Given the description of an element on the screen output the (x, y) to click on. 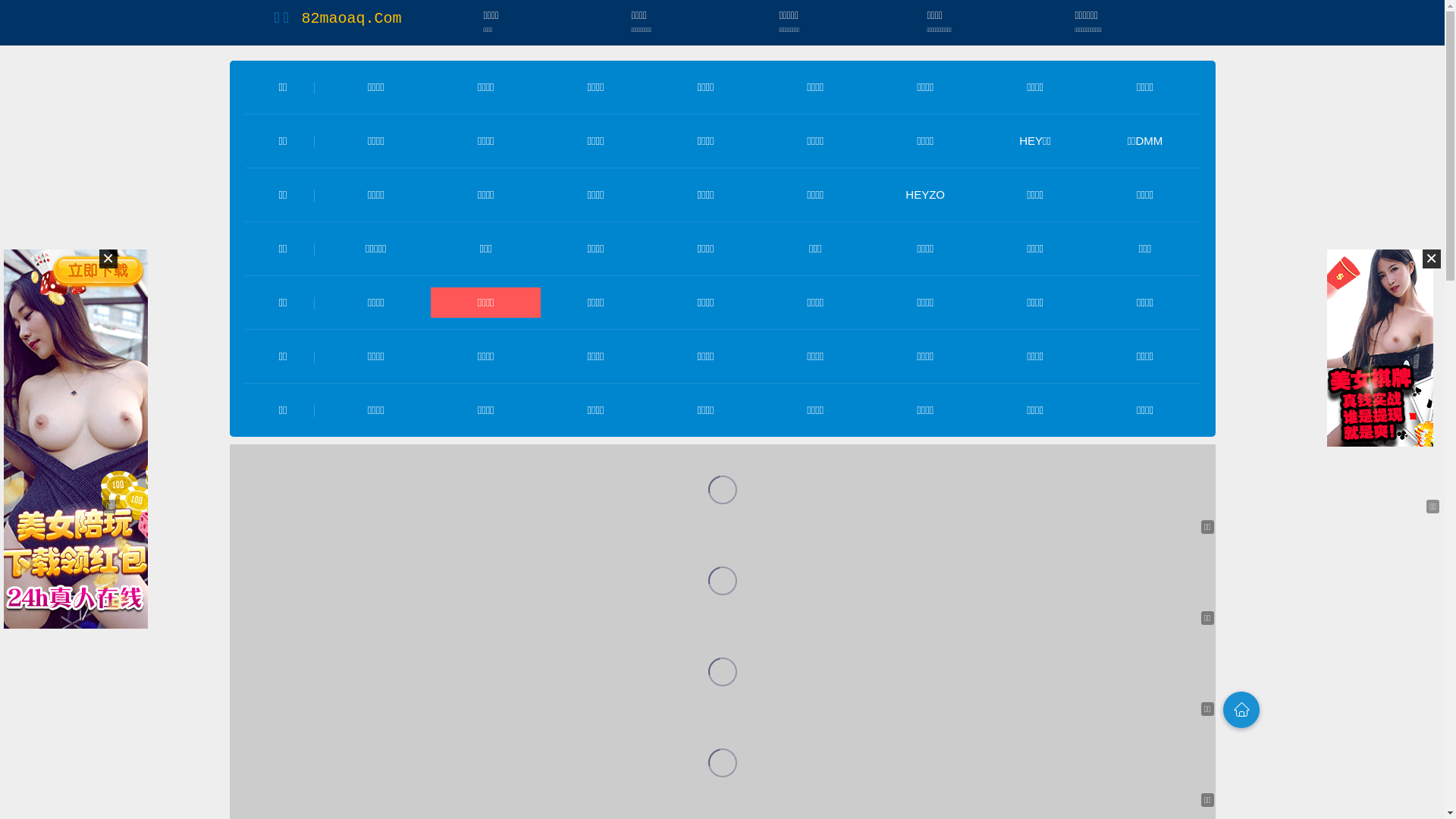
HEYZO Element type: text (924, 194)
82maoaq.Com Element type: text (351, 18)
